Given the description of an element on the screen output the (x, y) to click on. 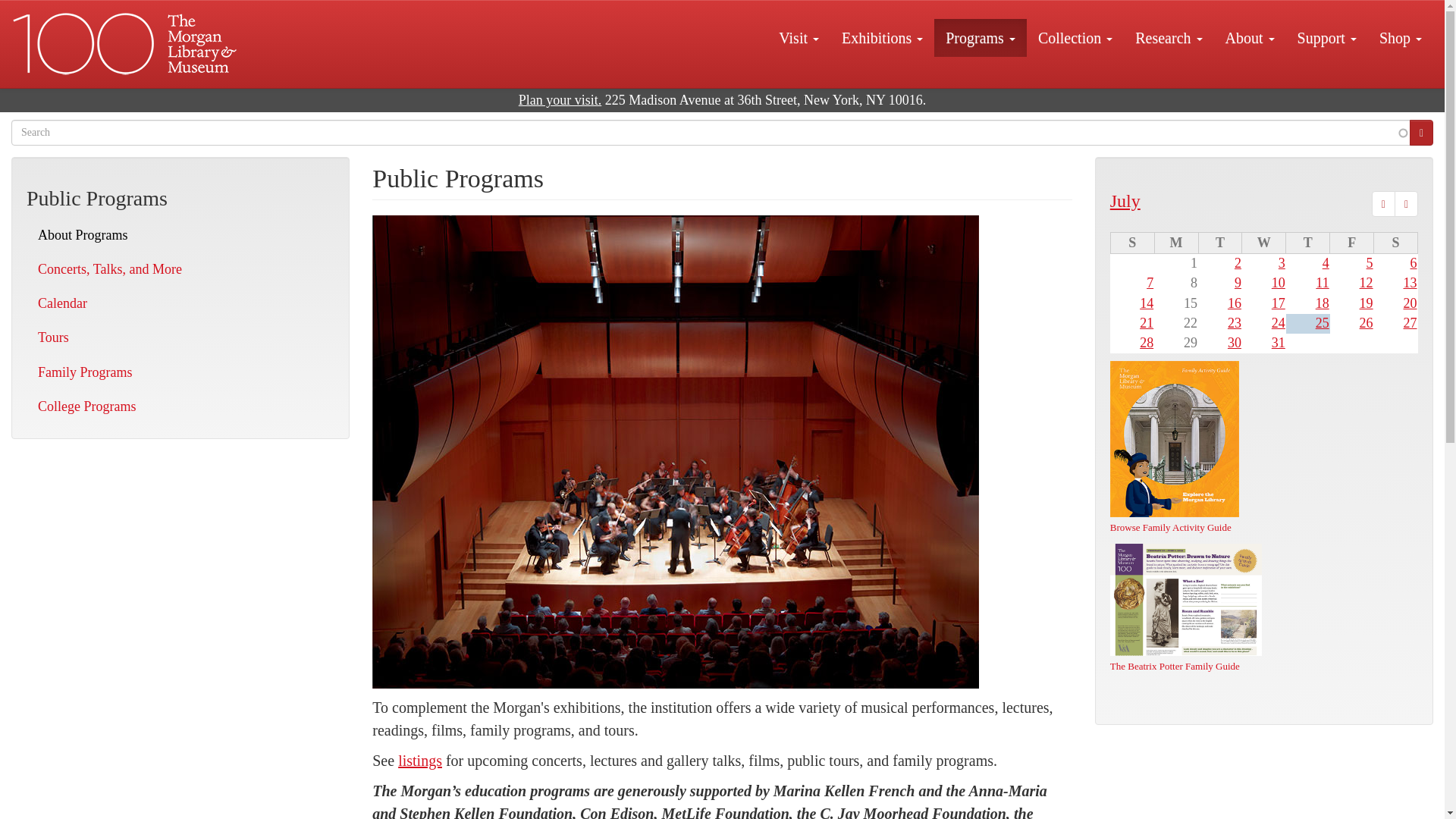
View full page month (1124, 200)
Home (126, 43)
Enter the terms you wish to search for. (710, 132)
Collection (1075, 37)
Visit (798, 37)
Navigate to next month (1406, 203)
Programs (980, 37)
Search (1420, 132)
Navigate to previous month (1382, 203)
Exhibitions (881, 37)
